Given the description of an element on the screen output the (x, y) to click on. 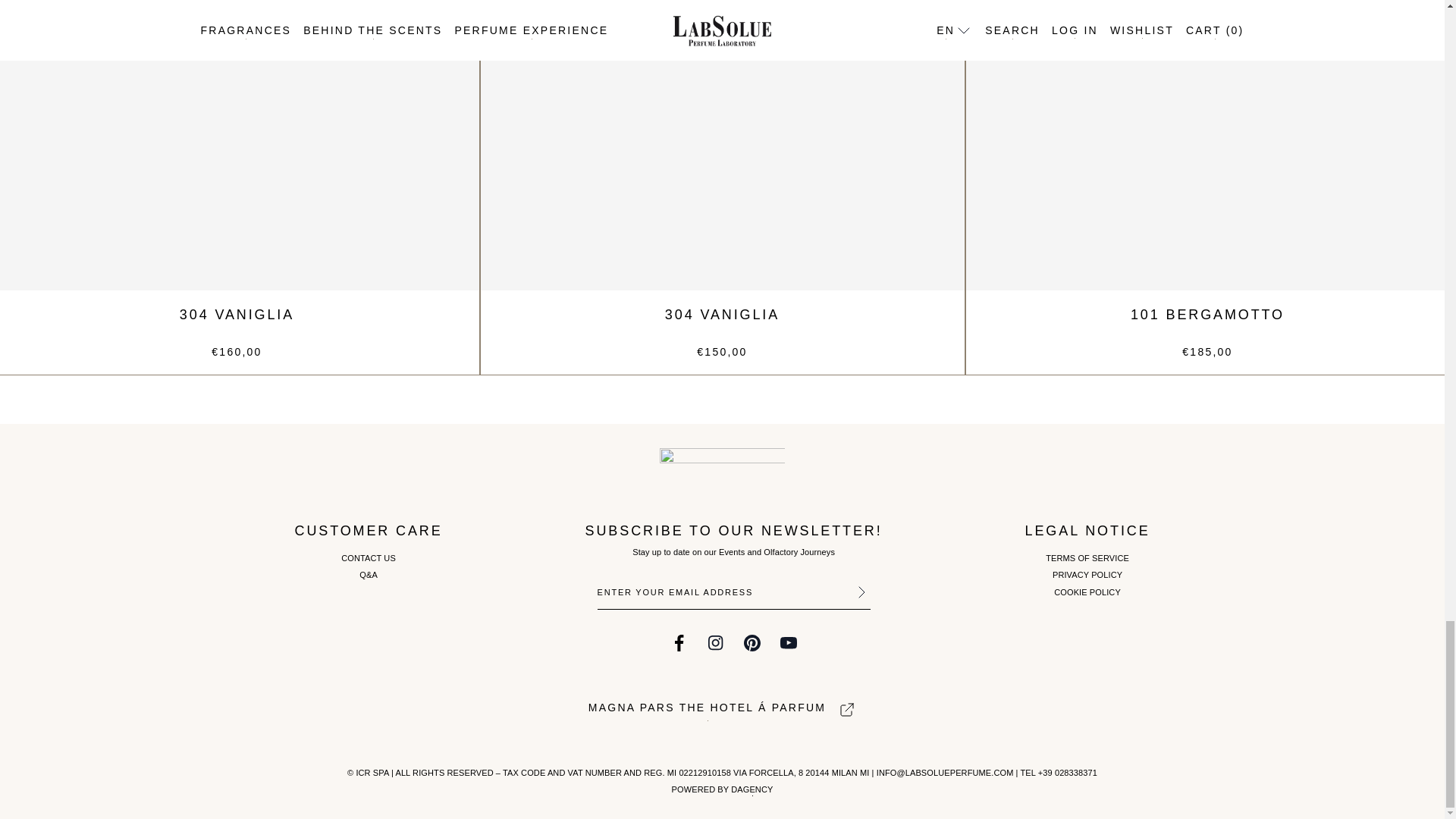
LabSolue on instagram (715, 642)
LabSolue on youtube (787, 642)
LabSolue on facebook (678, 642)
LabSolue on pinterest (751, 642)
